Given the description of an element on the screen output the (x, y) to click on. 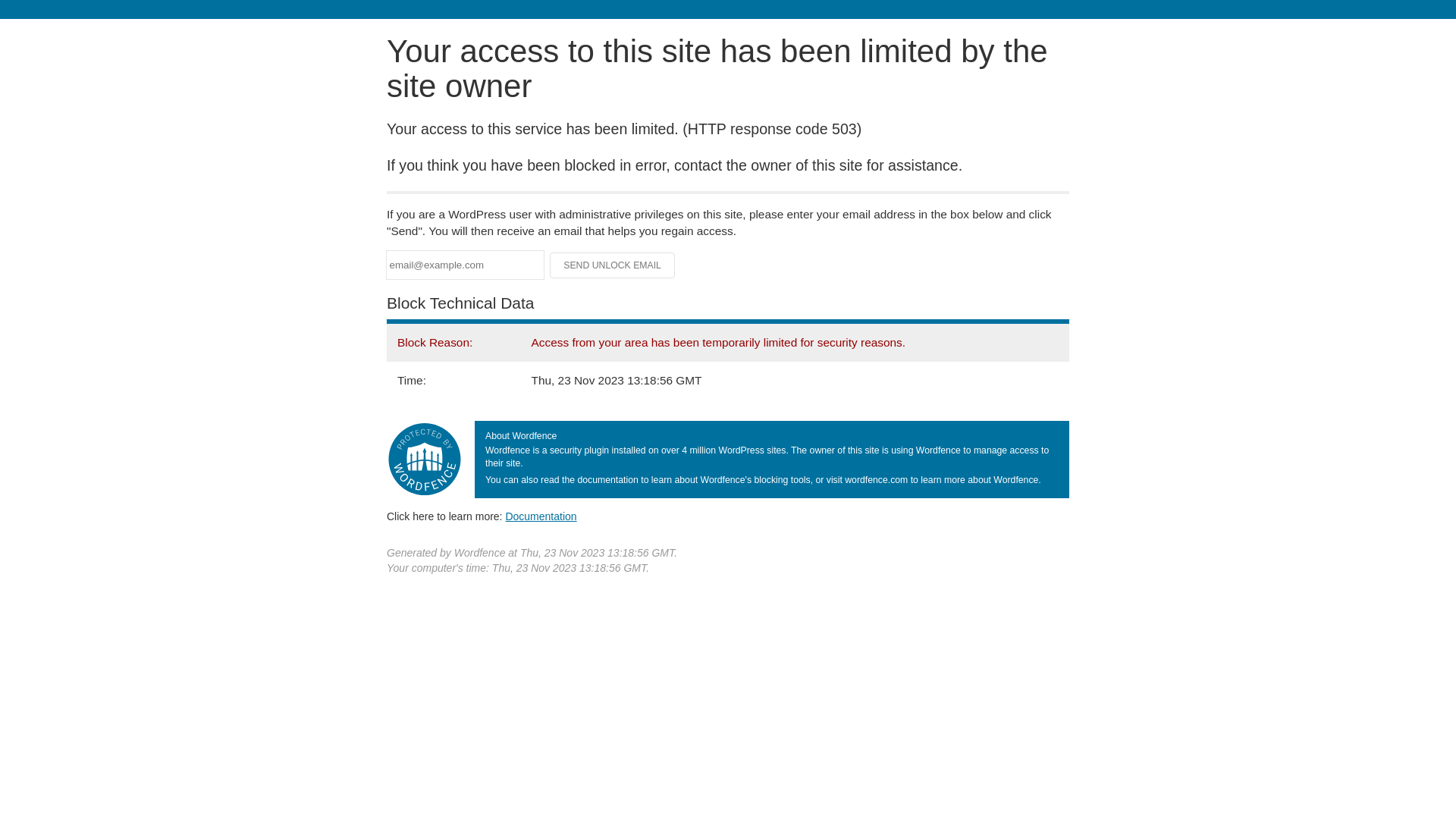
Documentation Element type: text (540, 516)
Send Unlock Email Element type: text (612, 265)
